Given the description of an element on the screen output the (x, y) to click on. 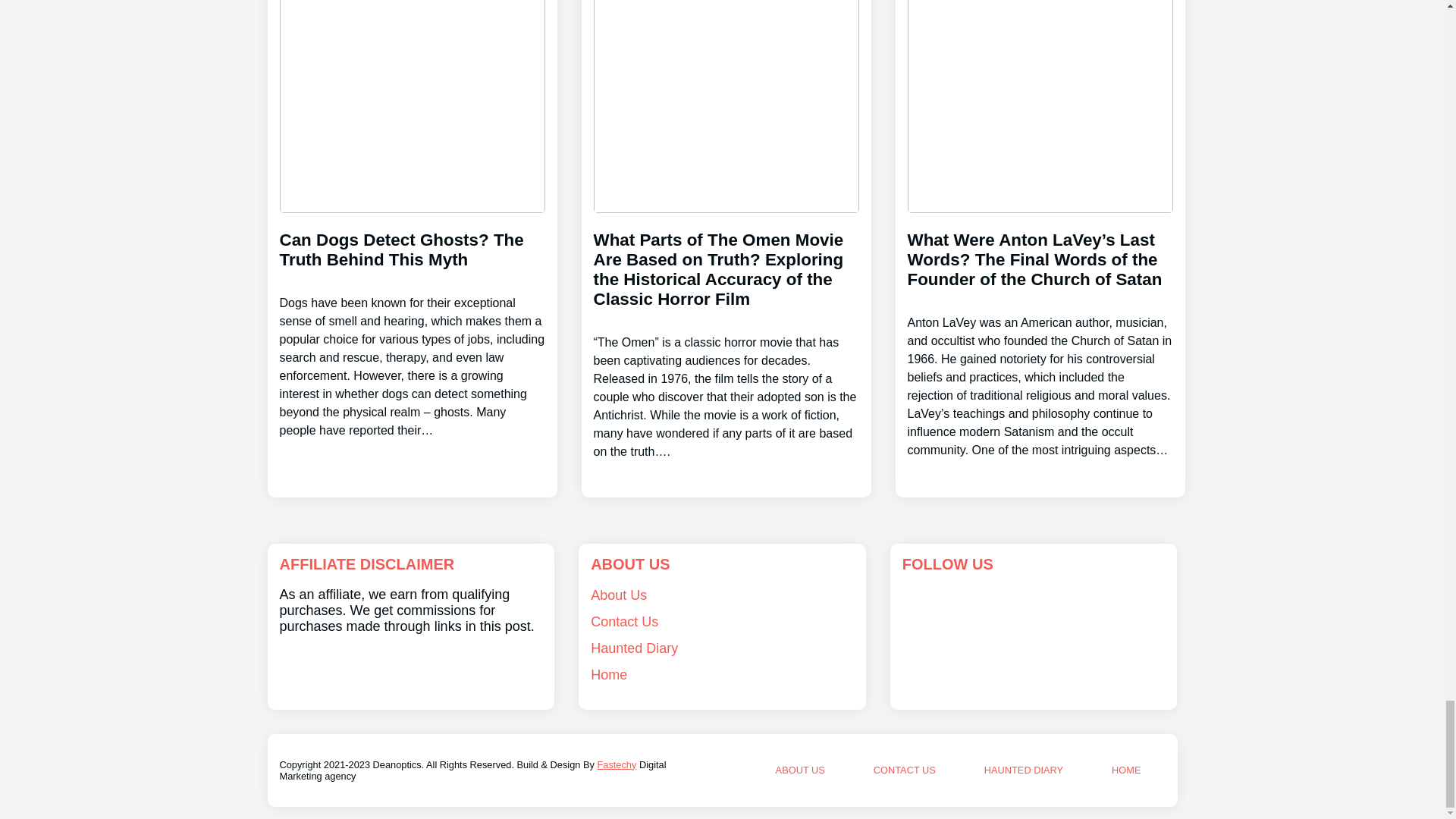
Home (609, 674)
Fastechy (616, 764)
Haunted Diary (634, 648)
ABOUT US (800, 769)
HAUNTED DIARY (1023, 769)
Can Dogs Detect Ghosts? The Truth Behind This Myth (411, 320)
About Us (618, 595)
HOME (1126, 769)
Contact Us (624, 621)
CONTACT US (904, 769)
